Given the description of an element on the screen output the (x, y) to click on. 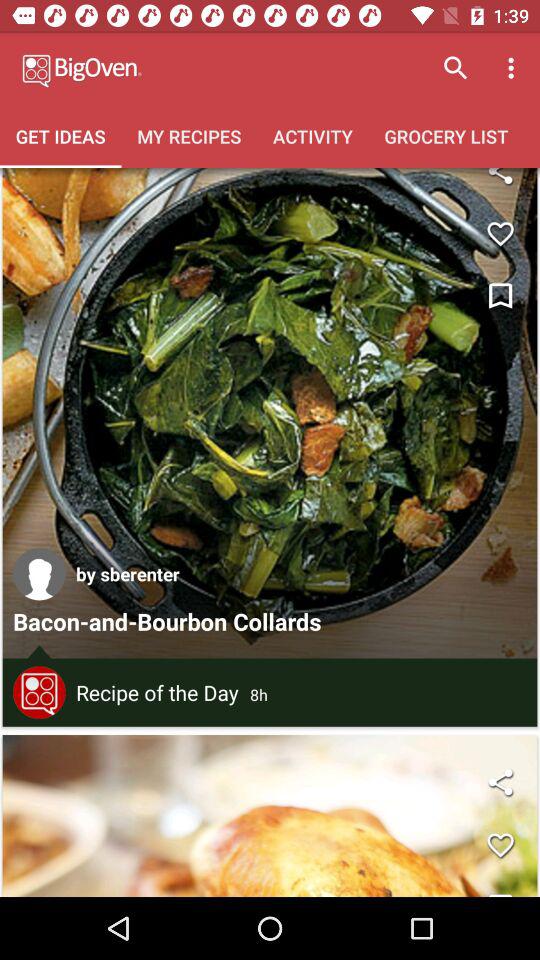
swipe to by sberenter item (127, 573)
